Given the description of an element on the screen output the (x, y) to click on. 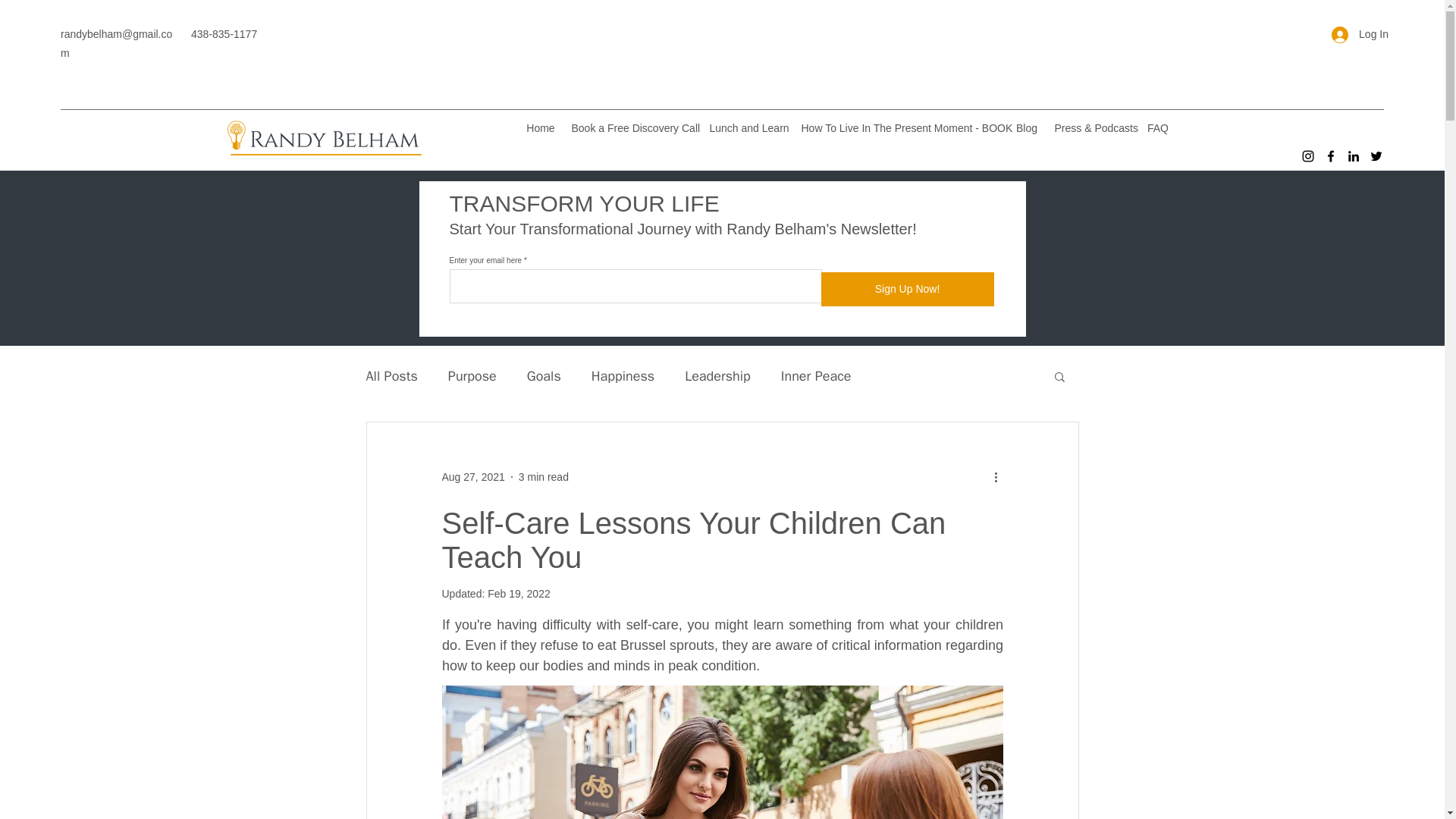
Purpose (472, 375)
Log In (1359, 34)
Feb 19, 2022 (518, 593)
All Posts (390, 375)
Inner Peace (815, 375)
Aug 27, 2021 (472, 476)
Blog (1026, 127)
Leadership (717, 375)
Book a Free Discovery Call (632, 127)
Goals (543, 375)
Sign Up Now! (906, 288)
Lunch and Learn (747, 127)
How To Live In The Present Moment - BOOK (899, 127)
Home (539, 127)
Happiness (622, 375)
